Given the description of an element on the screen output the (x, y) to click on. 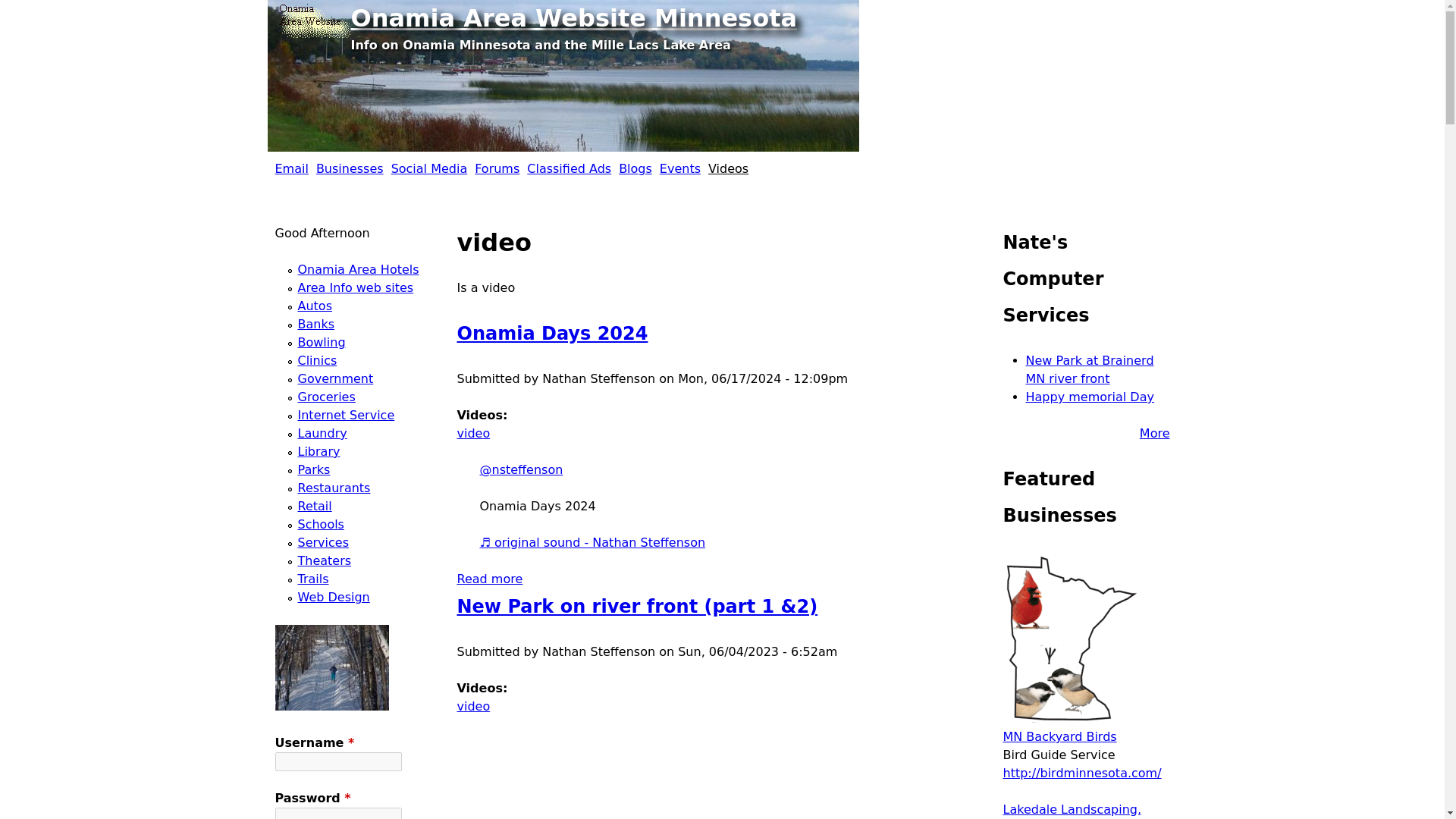
Blogs (635, 168)
Onamia Area Website Minnesota (573, 18)
Classified Ads (569, 168)
Home (312, 18)
Events (679, 168)
All Posts that have videos (727, 168)
Onamia Days 2024 (489, 578)
Forums (496, 168)
Onamia Days 2024 (489, 578)
All blogs on this site (552, 332)
Home (635, 168)
Social media links in Onamia Minnesota (573, 18)
events in Onamia MN (429, 168)
Mille Lacs Area Message Board (679, 168)
